Given the description of an element on the screen output the (x, y) to click on. 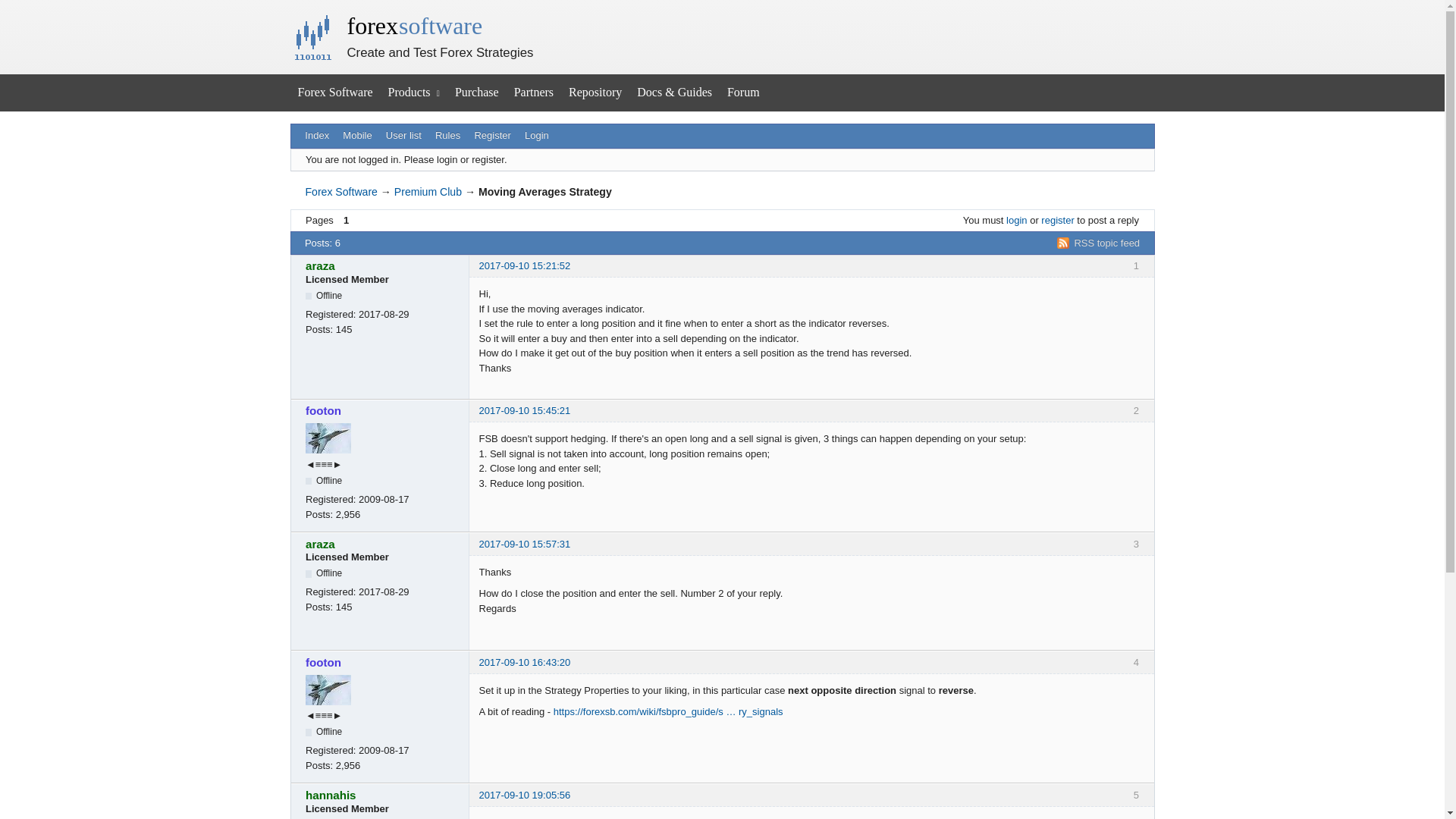
Partners (533, 92)
Go to araza's profile (381, 265)
login (1016, 220)
Forum (743, 92)
RSS topic feed (1098, 242)
Go to hannahis's profile (381, 795)
Forex Software (340, 191)
Purchase (476, 92)
Premium Club (427, 191)
forex software (415, 25)
